Given the description of an element on the screen output the (x, y) to click on. 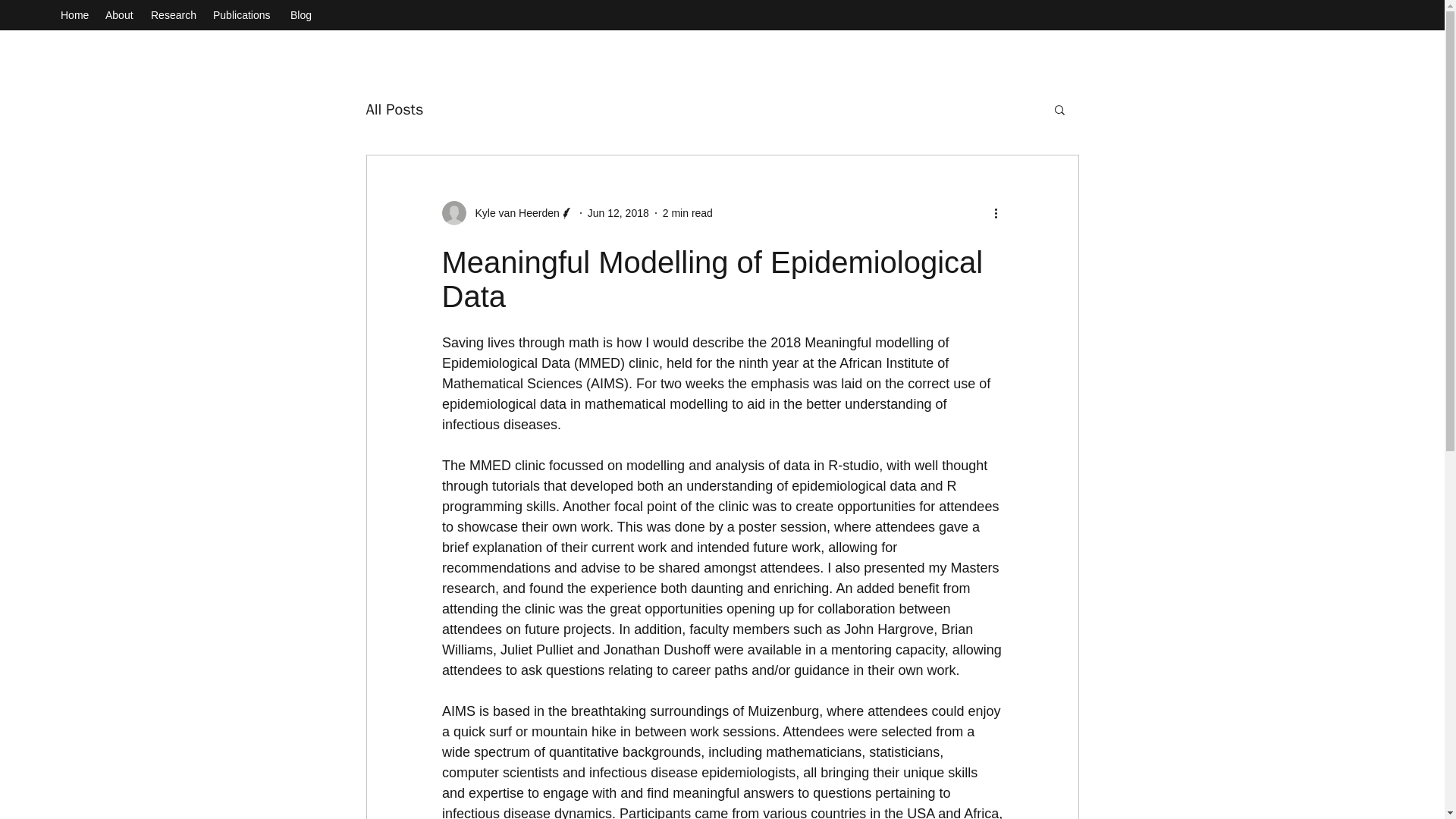
Blog (301, 15)
Research (173, 15)
Jun 12, 2018 (618, 212)
About (119, 15)
Publications (243, 15)
All Posts (394, 108)
Home (74, 15)
2 min read (687, 212)
Kyle van Heerden (512, 212)
